Given the description of an element on the screen output the (x, y) to click on. 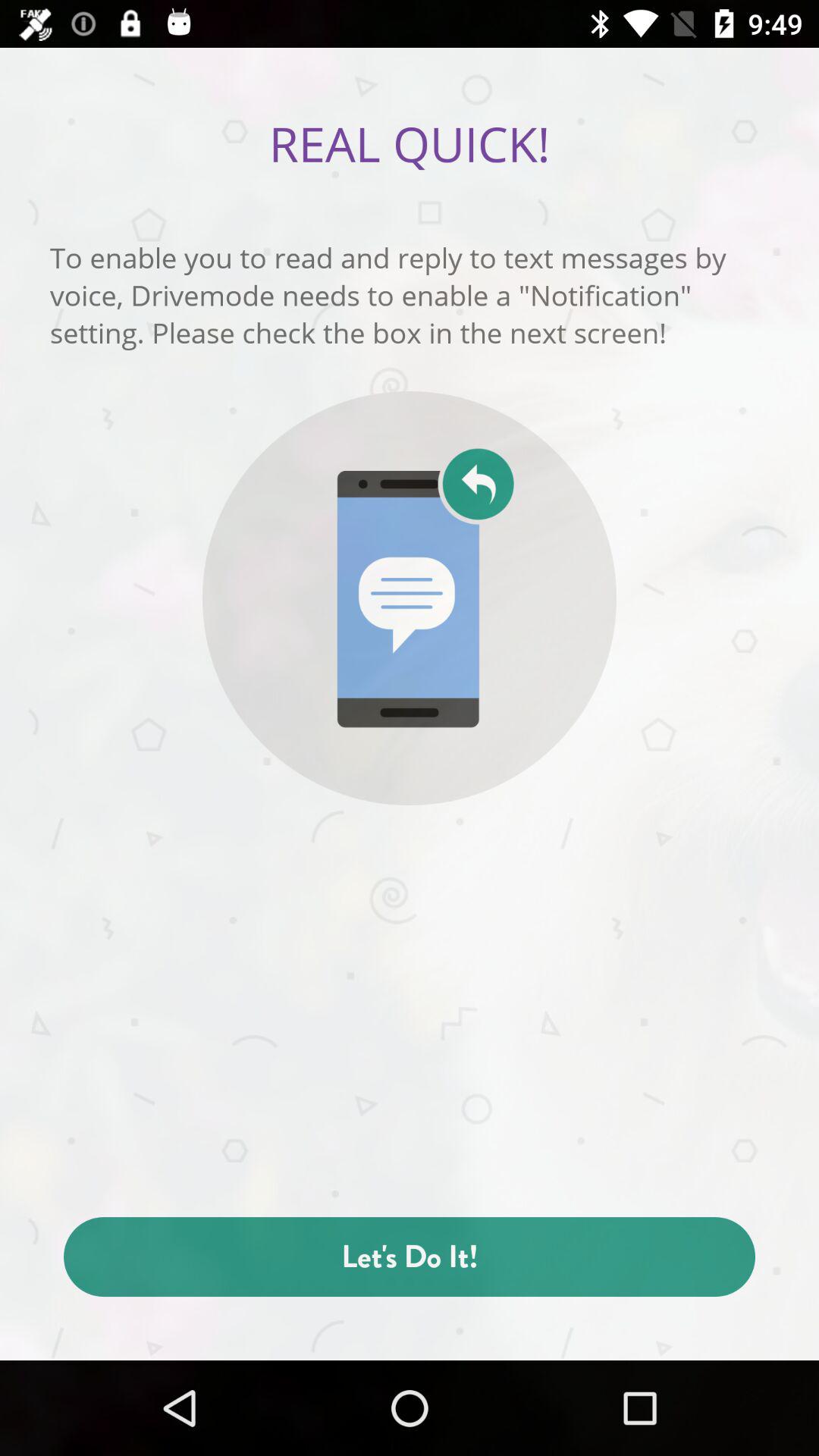
flip to let s do item (409, 1256)
